Given the description of an element on the screen output the (x, y) to click on. 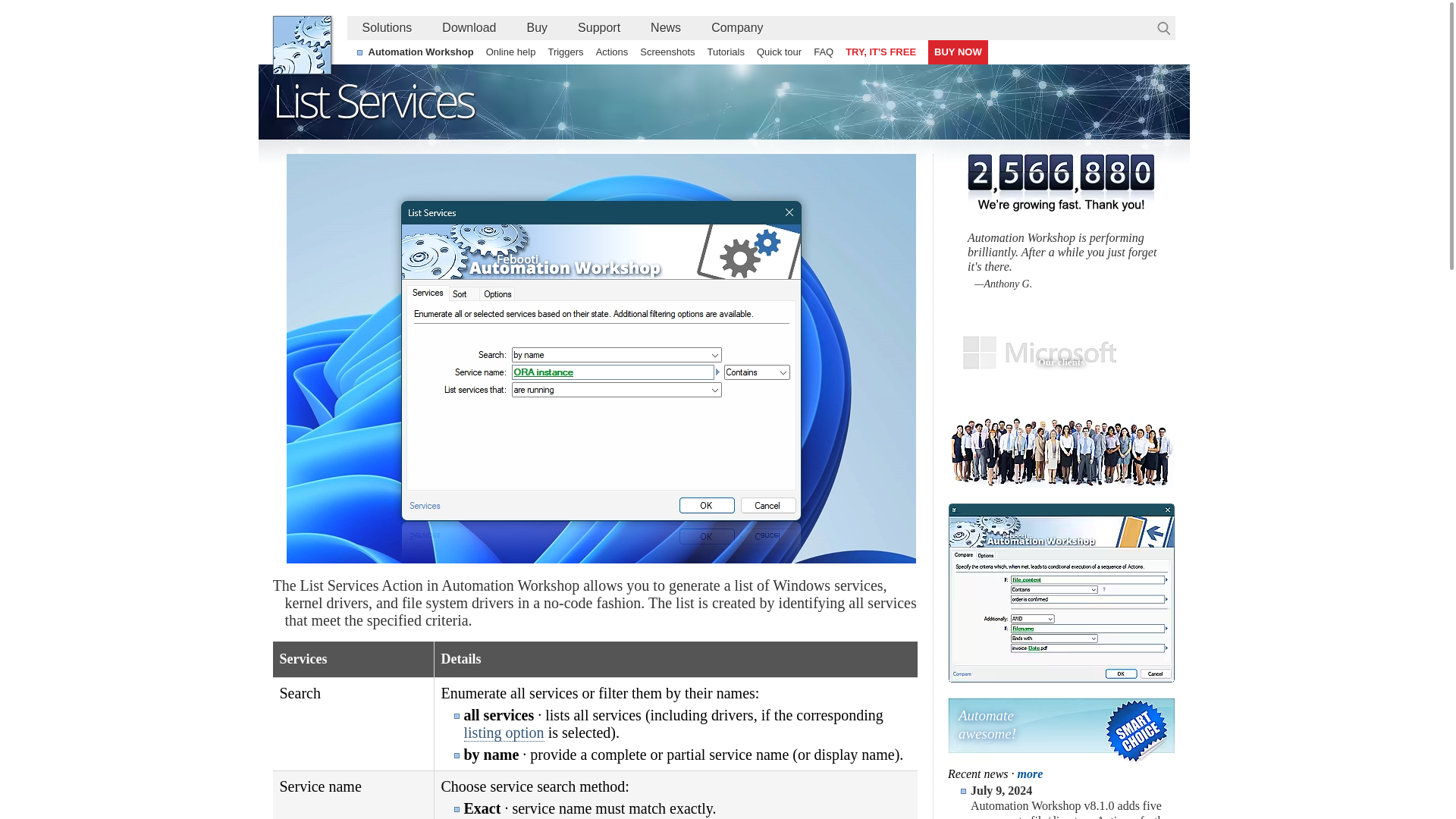
News (664, 27)
Company (736, 27)
Febooti, Ltd. (301, 44)
Triggers (565, 52)
FAQ (824, 52)
Online help (510, 52)
Tutorials (726, 52)
listing option (504, 732)
Automation Workshop (421, 52)
Buy (536, 27)
Solutions (387, 27)
Support (598, 27)
TRY, IT'S FREE (880, 52)
Quick tour (779, 52)
Screenshots (666, 52)
